Given the description of an element on the screen output the (x, y) to click on. 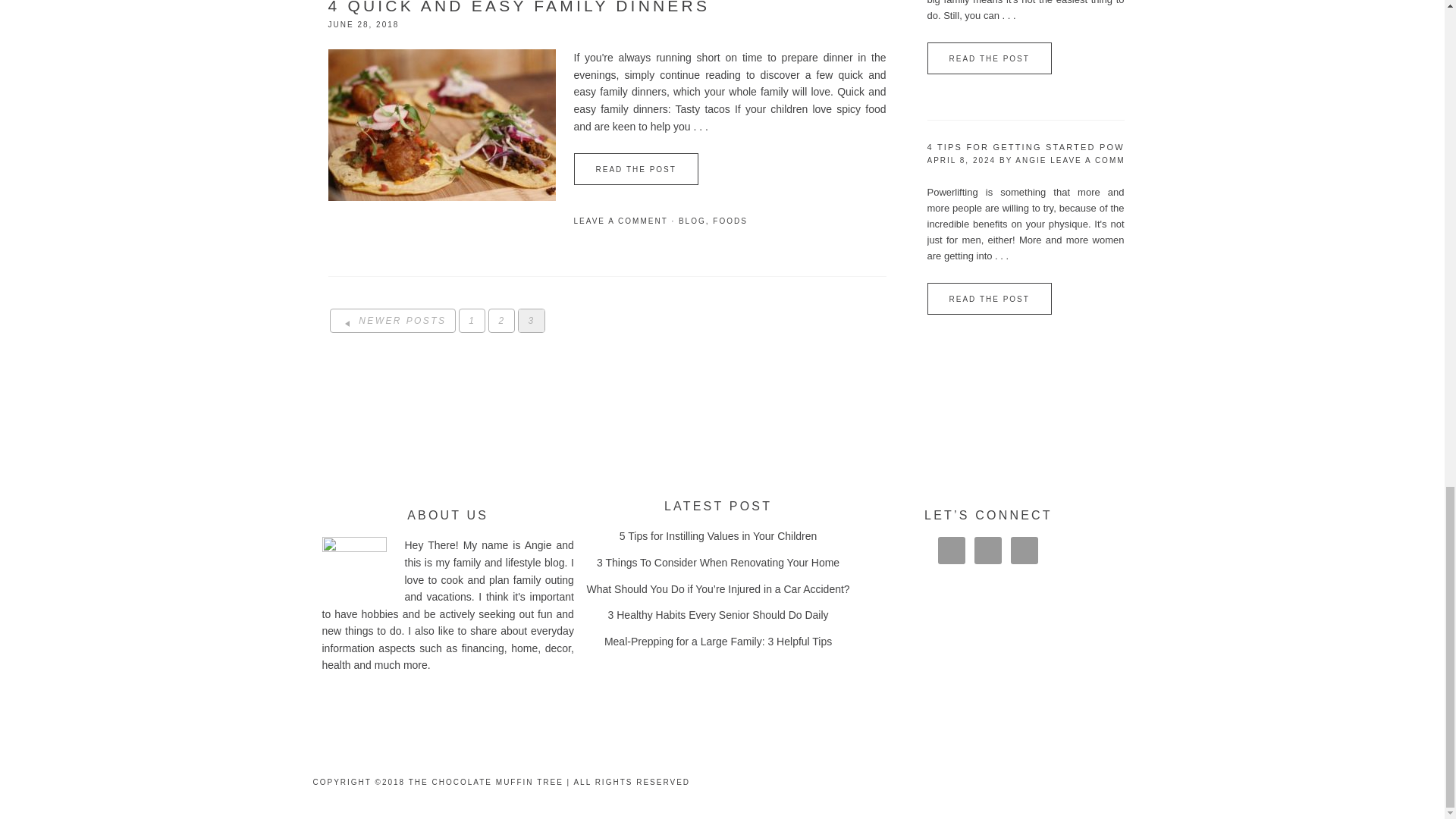
4 QUICK AND EASY FAMILY DINNERS (518, 7)
